Given the description of an element on the screen output the (x, y) to click on. 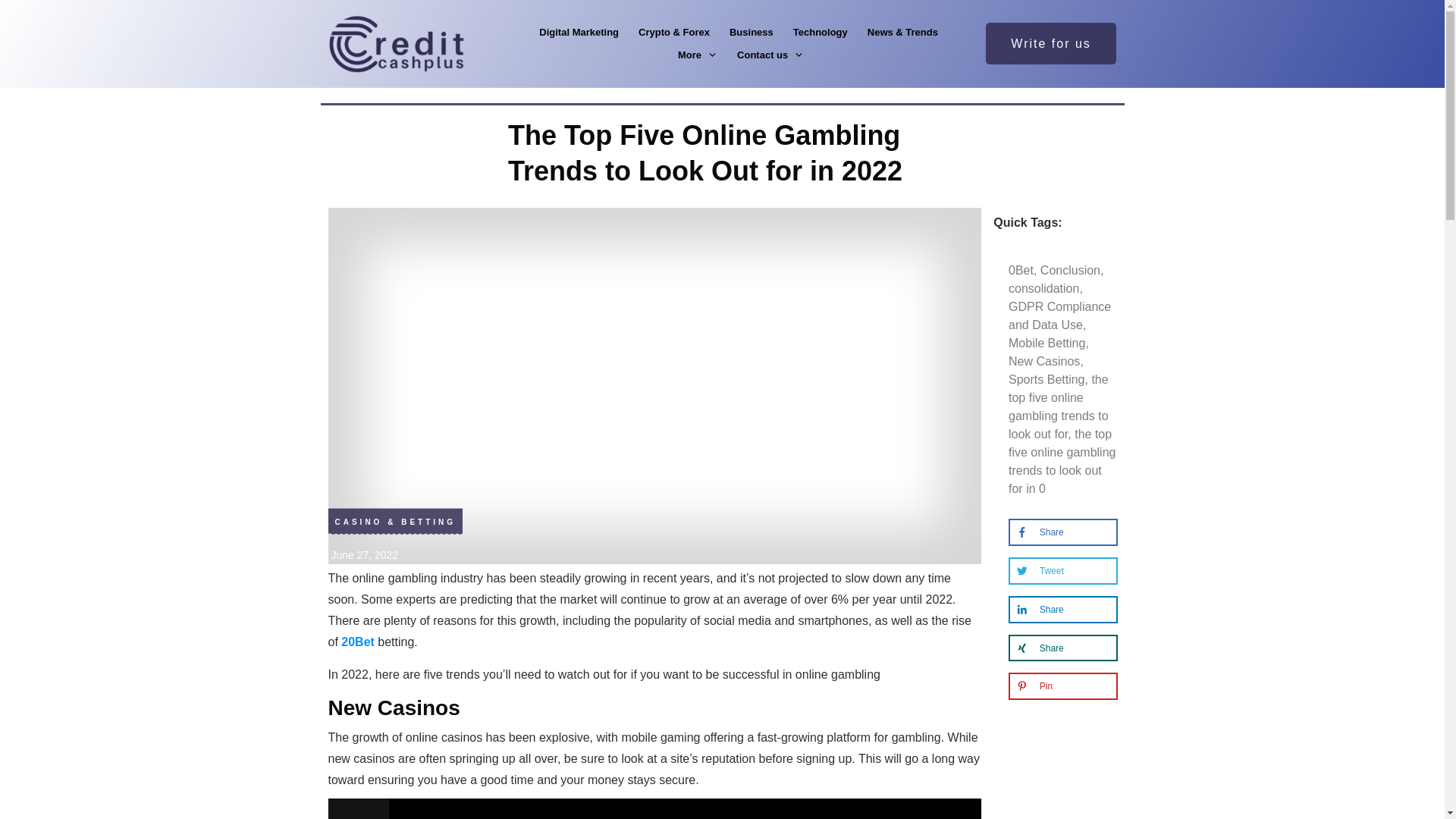
Mobile Betting (1046, 342)
the top five online gambling trends to look out for in 0 (1062, 461)
Sports Betting (1046, 379)
0Bet (1021, 269)
Write for us (1050, 43)
GDPR Compliance and Data Use (1059, 315)
Business (751, 32)
20Bet (357, 641)
Contact us (769, 55)
consolidation (1043, 287)
GDPR Compliance and Data Use (1059, 315)
consolidation (1043, 287)
More (697, 55)
New Casinos (1044, 360)
Technology (820, 32)
